Given the description of an element on the screen output the (x, y) to click on. 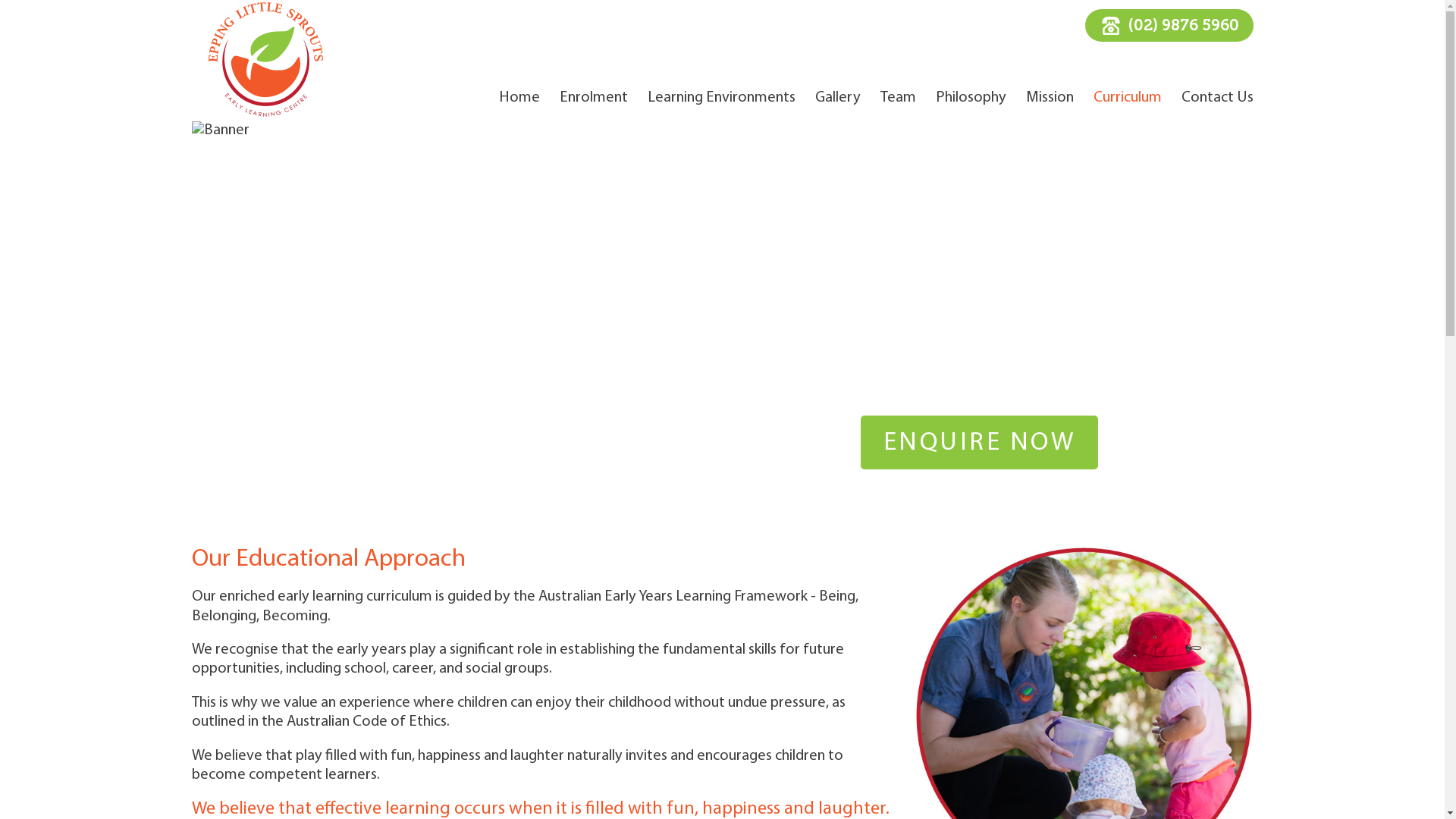
Contact Us Element type: text (1217, 97)
Curriculum Element type: text (1127, 97)
ENQUIRE NOW Element type: text (979, 442)
Mission Element type: text (1049, 97)
(02) 9876 5960 Element type: text (1168, 25)
Learning Environments Element type: text (721, 97)
Philosophy Element type: text (970, 97)
Enrolment Element type: text (593, 97)
Gallery Element type: text (836, 97)
Home Element type: text (518, 97)
Team Element type: text (897, 97)
